Given the description of an element on the screen output the (x, y) to click on. 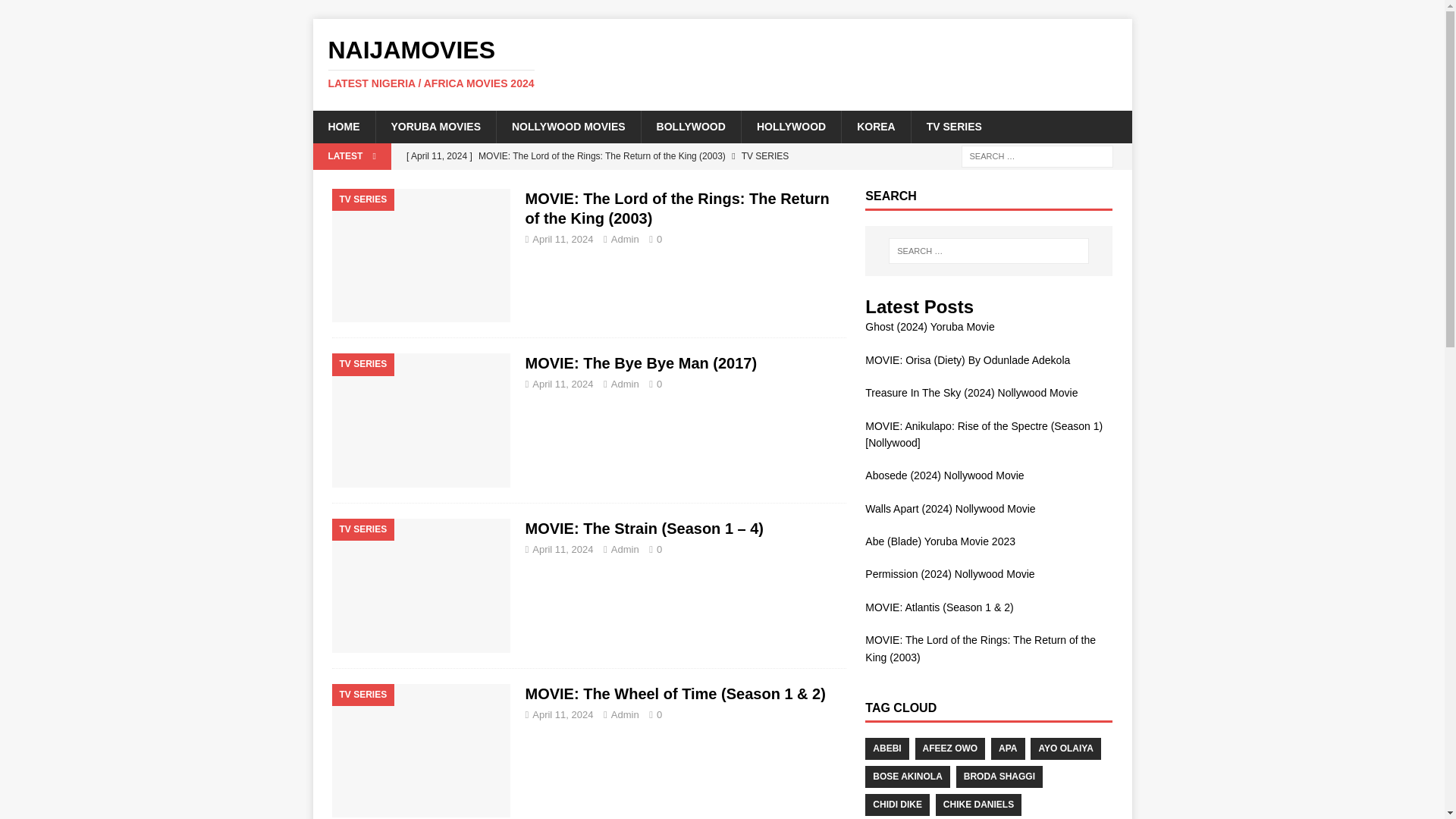
April 11, 2024 (562, 238)
April 11, 2024 (562, 383)
HOLLYWOOD (791, 126)
Search (56, 11)
KOREA (876, 126)
TV SERIES (954, 126)
TV Series (421, 255)
TV Series (421, 585)
April 11, 2024 (562, 714)
Admin (625, 714)
